Given the description of an element on the screen output the (x, y) to click on. 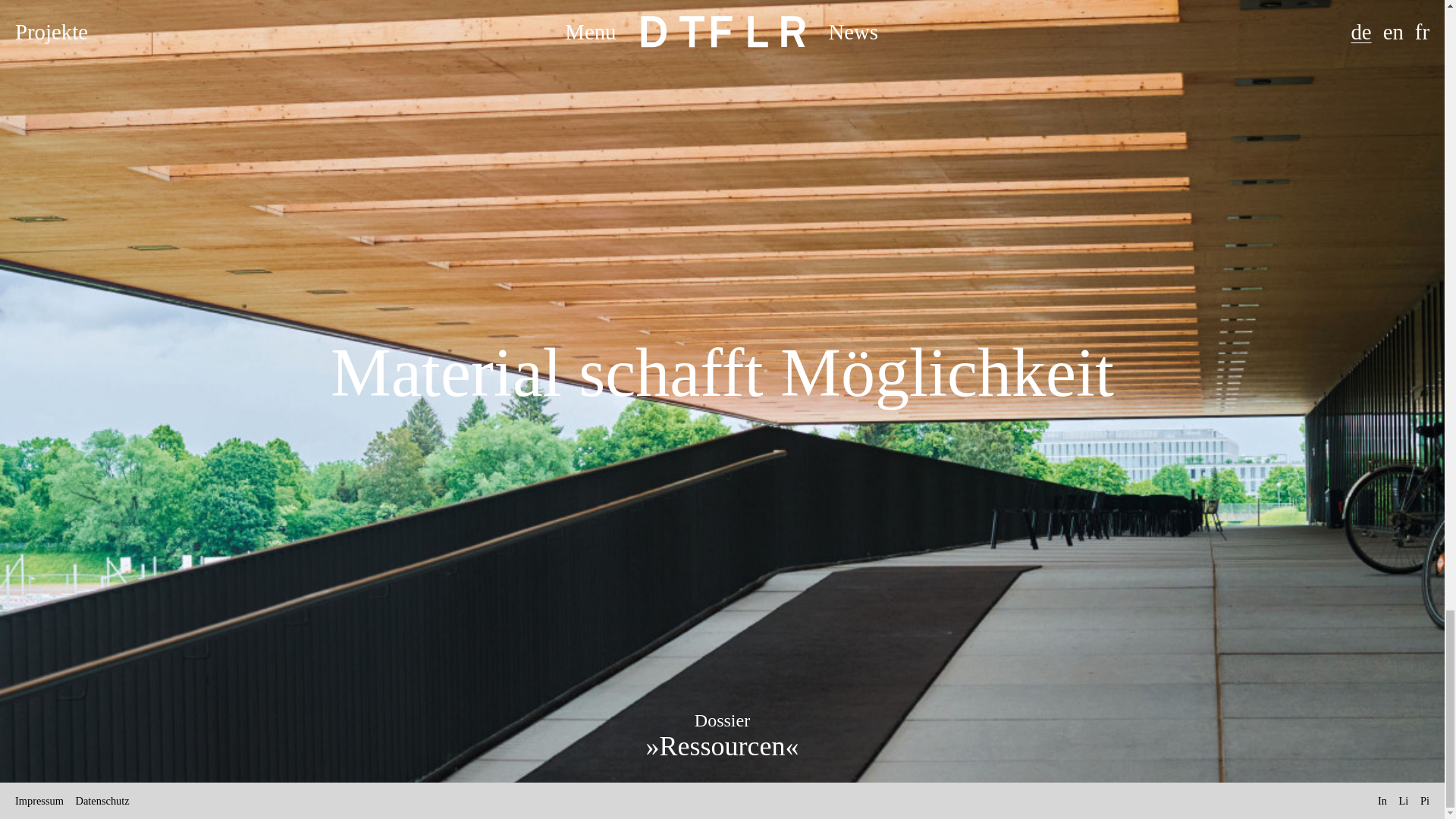
Impressum (39, 800)
Datenschutz (102, 800)
